Given the description of an element on the screen output the (x, y) to click on. 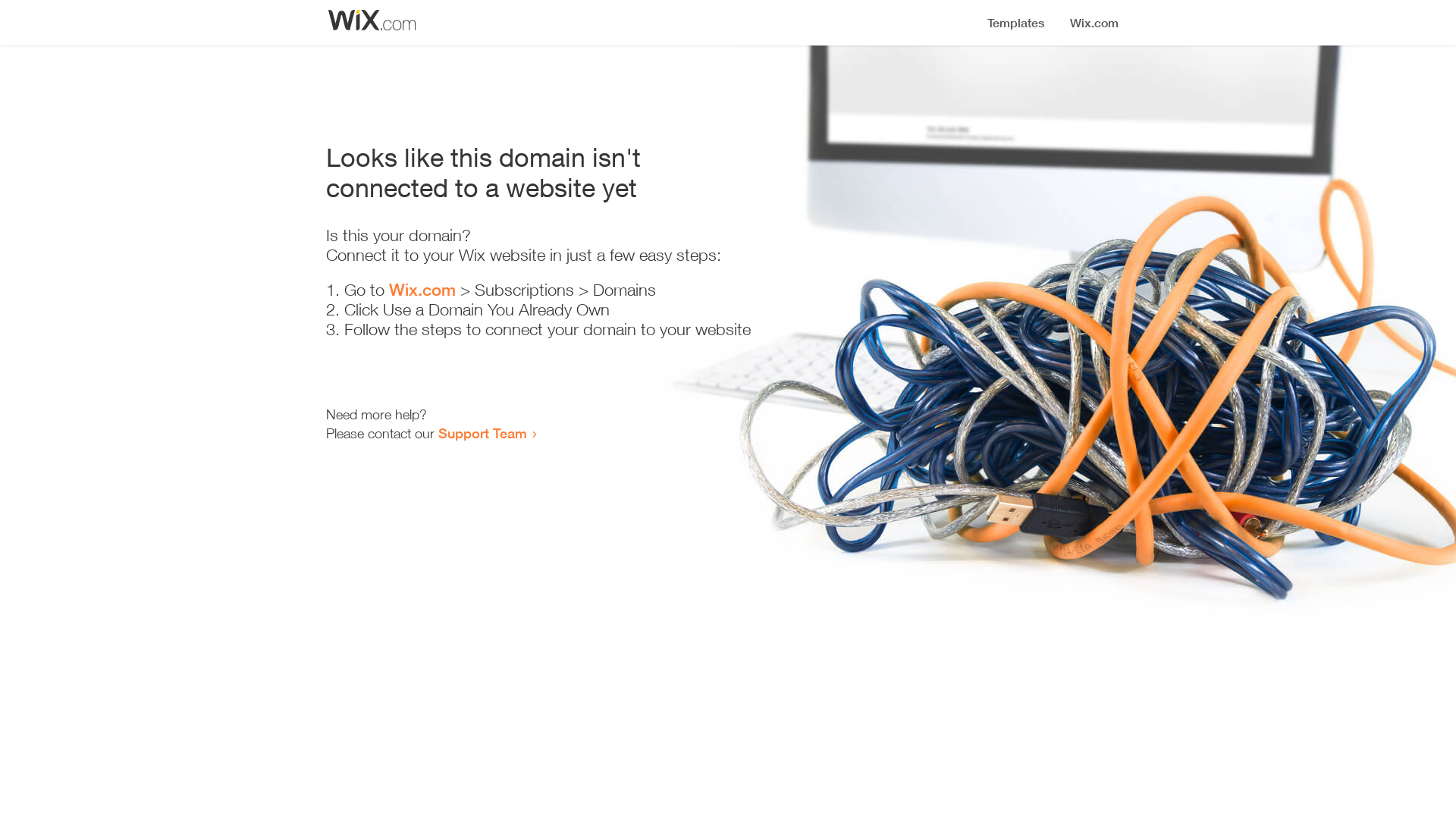
Support Team Element type: text (482, 432)
Wix.com Element type: text (422, 289)
